Given the description of an element on the screen output the (x, y) to click on. 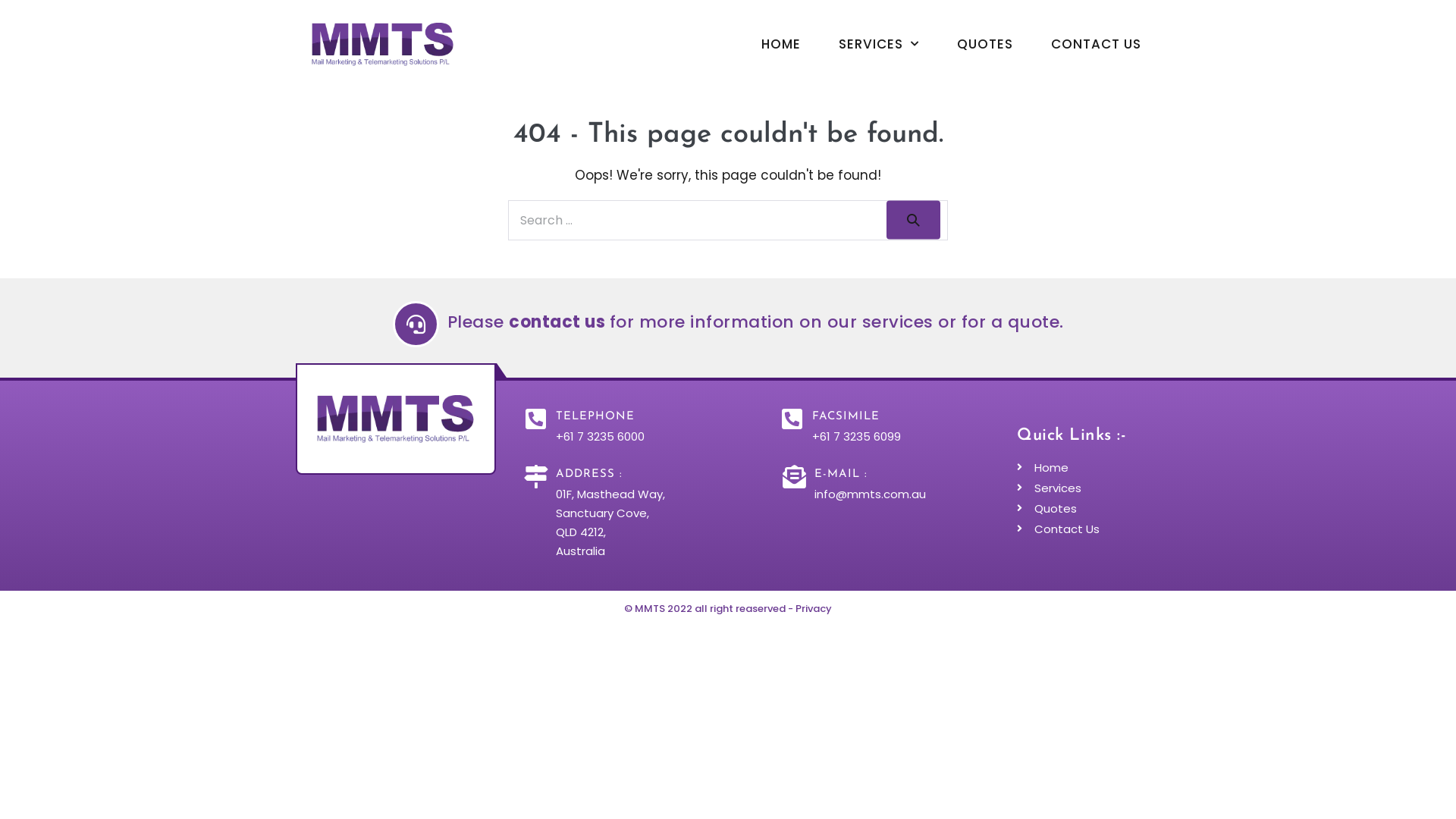
SERVICES Element type: text (878, 43)
QUOTES Element type: text (985, 43)
Contact Us Element type: text (1080, 528)
Home Element type: text (1080, 467)
+61 7 3235 6099 Element type: text (856, 436)
CONTACT US Element type: text (1096, 43)
E-MAIL : Element type: text (840, 474)
info@mmts.com.au Element type: text (869, 494)
Services Element type: text (1080, 487)
Press enter to search Element type: hover (727, 220)
Search Element type: text (913, 219)
Quotes Element type: text (1080, 507)
+61 7 3235 6000 Element type: text (599, 436)
TELEPHONE Element type: text (594, 416)
HOME Element type: text (780, 43)
